Given the description of an element on the screen output the (x, y) to click on. 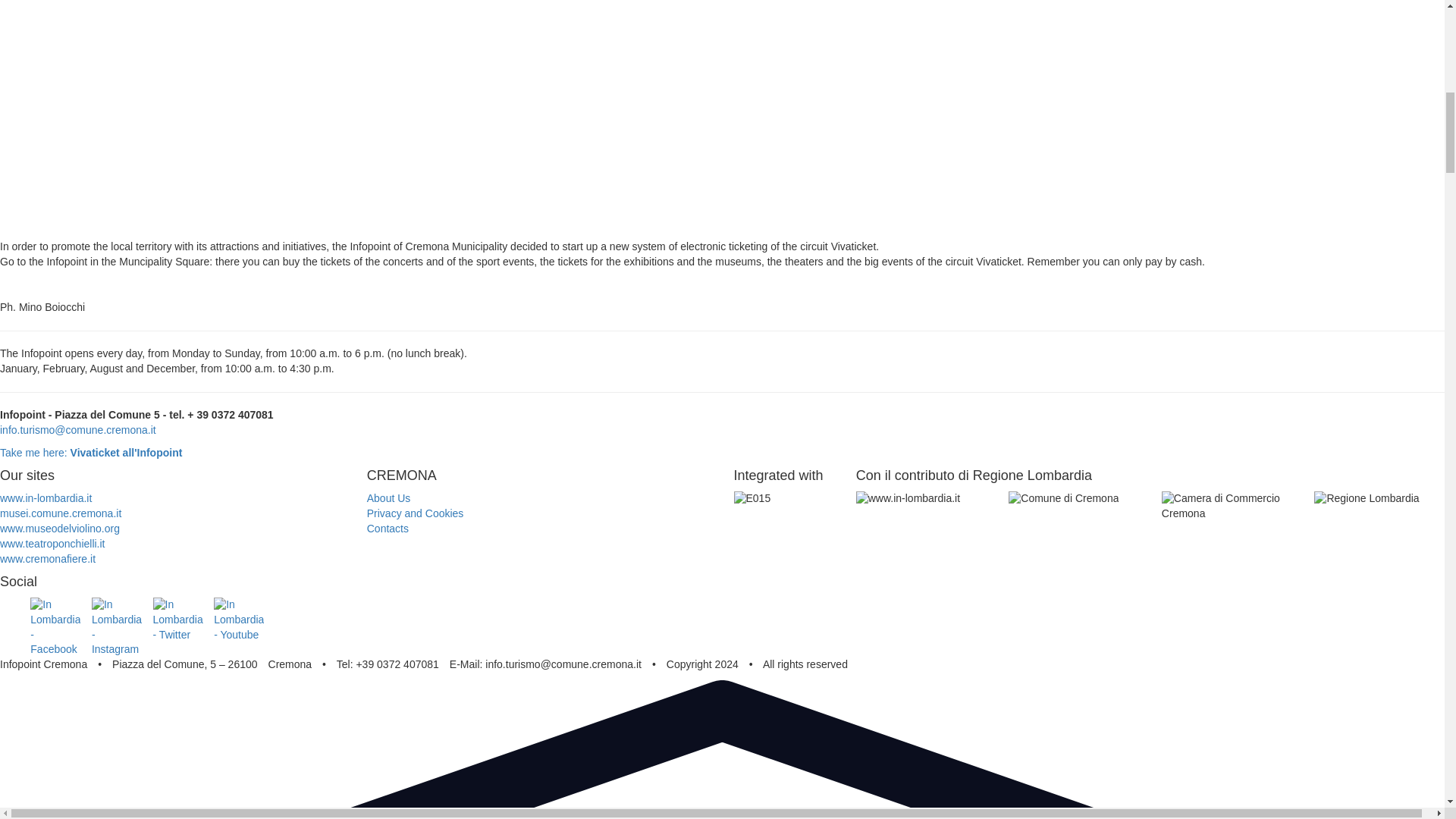
www.museodelviolino.org (59, 528)
Contacts (387, 528)
www.in-lombardia.it (45, 498)
About Us (388, 498)
Take me here: Vivaticket all'Infopoint (91, 452)
www.cremonafiere.it (48, 558)
www.teatroponchielli.it (52, 543)
musei.comune.cremona.it (60, 512)
Privacy and Cookies (415, 512)
